Given the description of an element on the screen output the (x, y) to click on. 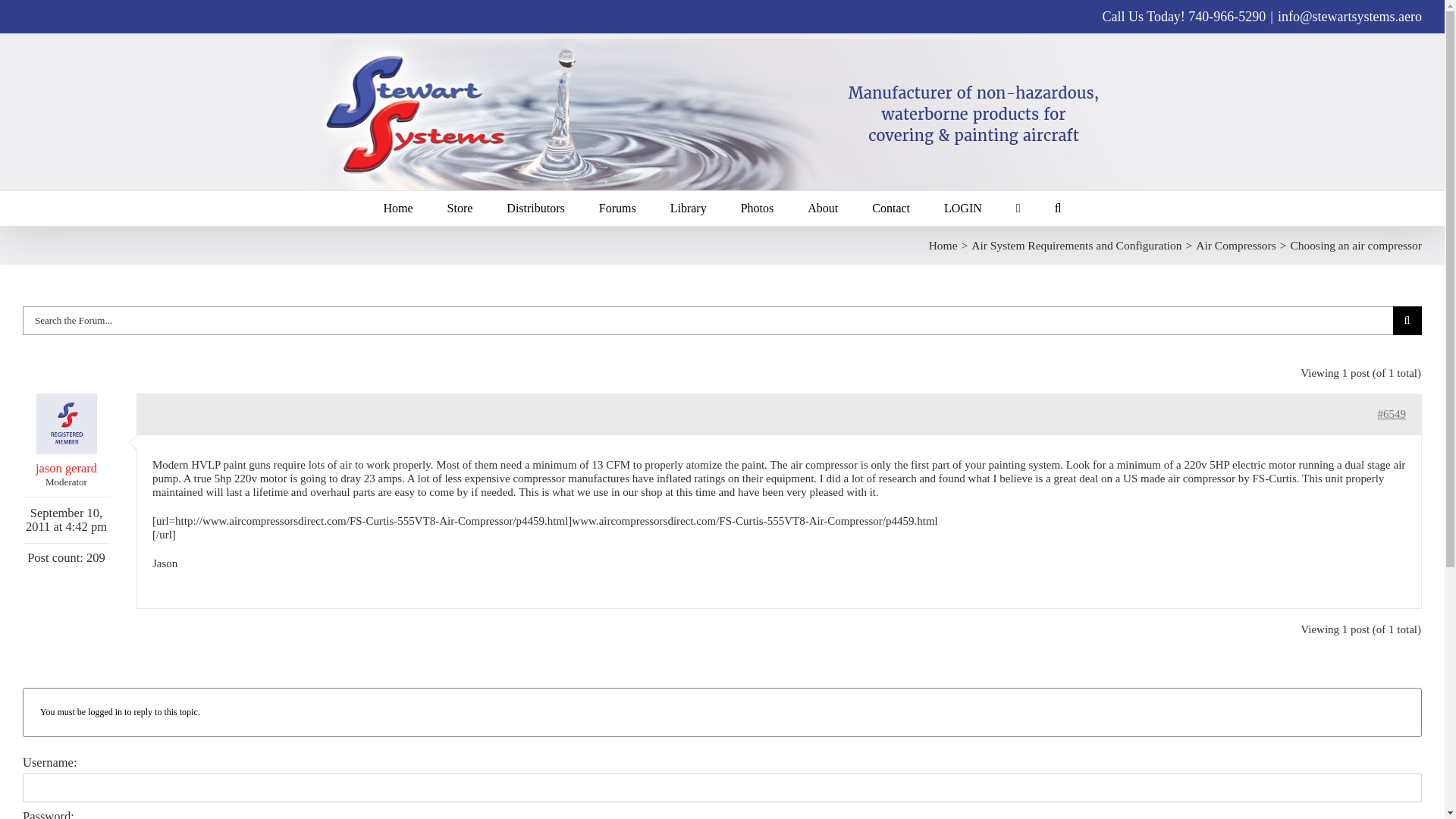
LOGIN (962, 208)
Distributors (535, 208)
Contact (891, 208)
Air System Requirements and Configuration (1075, 245)
Forums (617, 208)
Air Compressors (1235, 245)
Home (943, 245)
Library (687, 208)
jason gerard (66, 434)
Photos (757, 208)
